Given the description of an element on the screen output the (x, y) to click on. 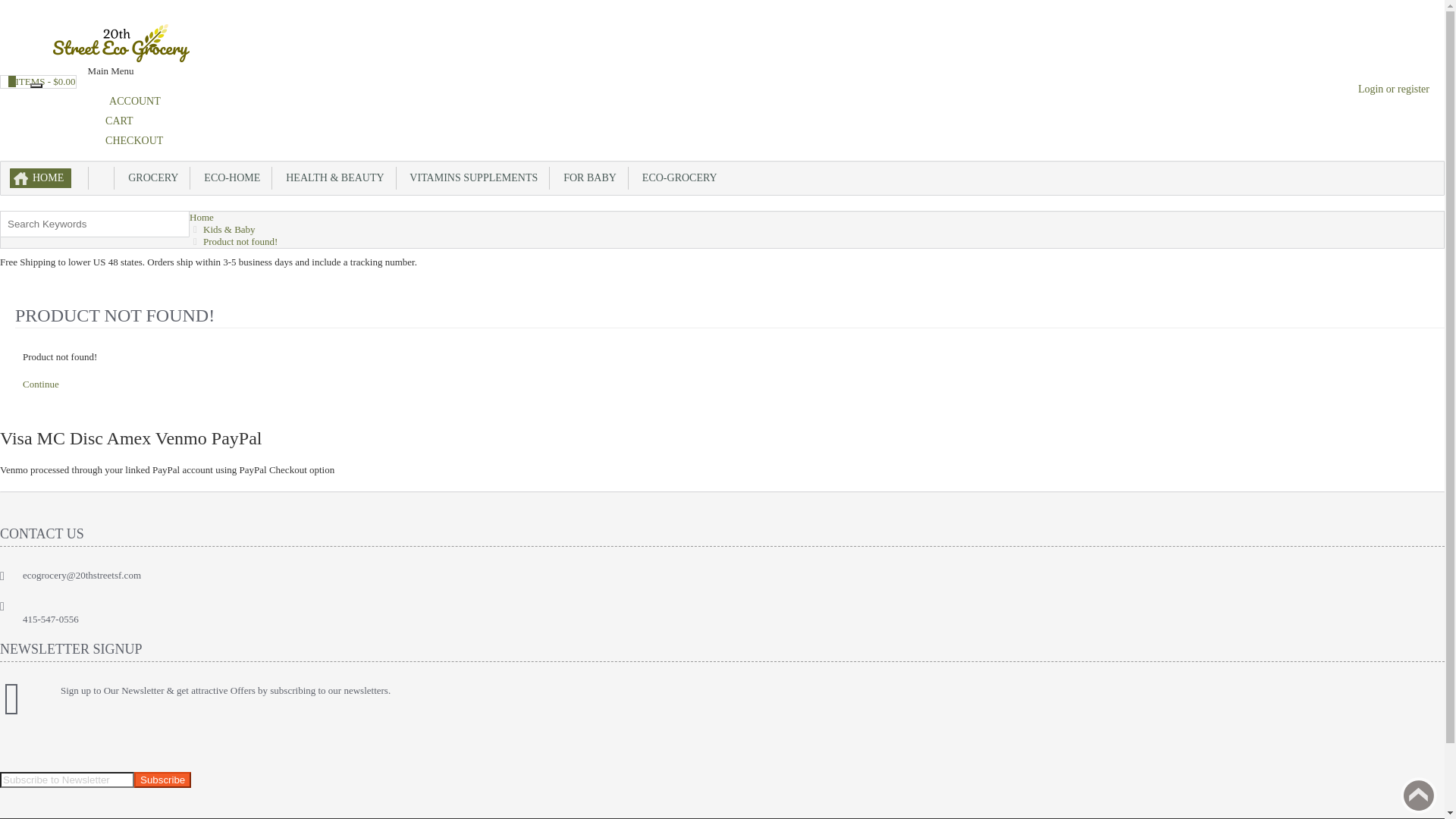
  ECO-GROCERY Element type: text (678, 178)
Continue Element type: text (40, 383)
HOME Element type: text (40, 178)
 CHECKOUT Element type: text (129, 140)
Back to top Element type: text (1418, 795)
  VITAMINS SUPPLEMENTS Element type: text (473, 178)
  FOR BABY Element type: text (589, 178)
  ECO-HOME Element type: text (230, 178)
Kids & Baby Element type: text (229, 229)
  GROCERY Element type: text (152, 178)
  HEALTH & BEAUTY Element type: text (333, 178)
   0 ITEMS - $0.00 Element type: text (37, 81)
 CART Element type: text (114, 120)
20th Street SF Eco Grocery Element type: hover (121, 42)
Subscribe Element type: text (162, 779)
   Element type: text (101, 178)
Home Element type: text (201, 216)
Product not found! Element type: text (240, 241)
Login or register Element type: text (1389, 88)
 ACCOUNT Element type: text (127, 100)
